Given the description of an element on the screen output the (x, y) to click on. 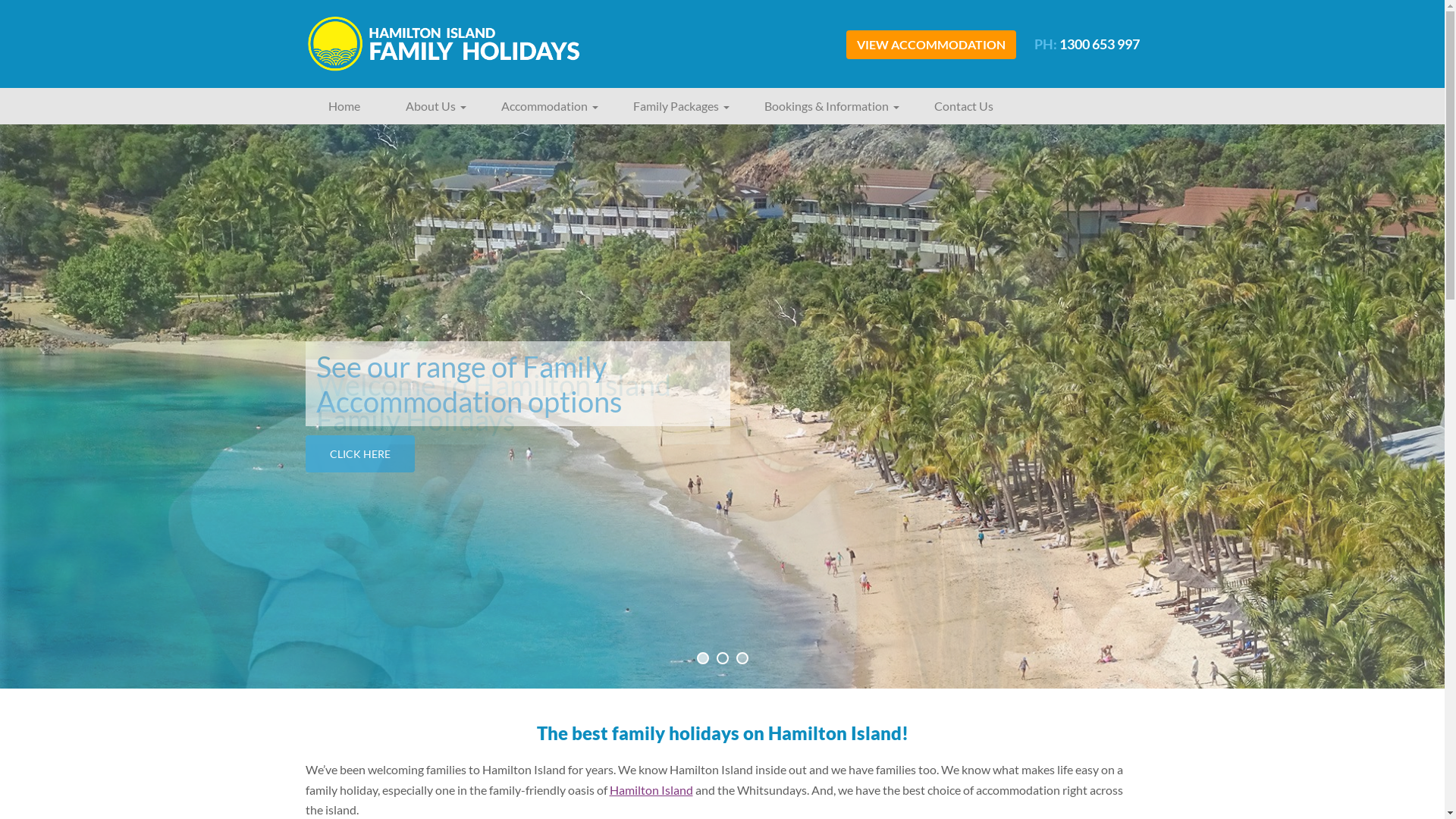
Accommodation Element type: text (543, 105)
VIEW ACCOMMODATION Element type: text (931, 44)
Family Packages Element type: text (674, 105)
CLICK HERE Element type: text (359, 453)
Home Element type: text (343, 105)
1 Element type: text (702, 658)
Bookings & Information Element type: text (826, 105)
Contact Us Element type: text (963, 105)
3 Element type: text (741, 658)
About Us Element type: text (429, 105)
PH: 1300 653 997 Element type: text (1086, 43)
Hamilton Island Element type: text (651, 789)
2 Element type: text (721, 658)
